Given the description of an element on the screen output the (x, y) to click on. 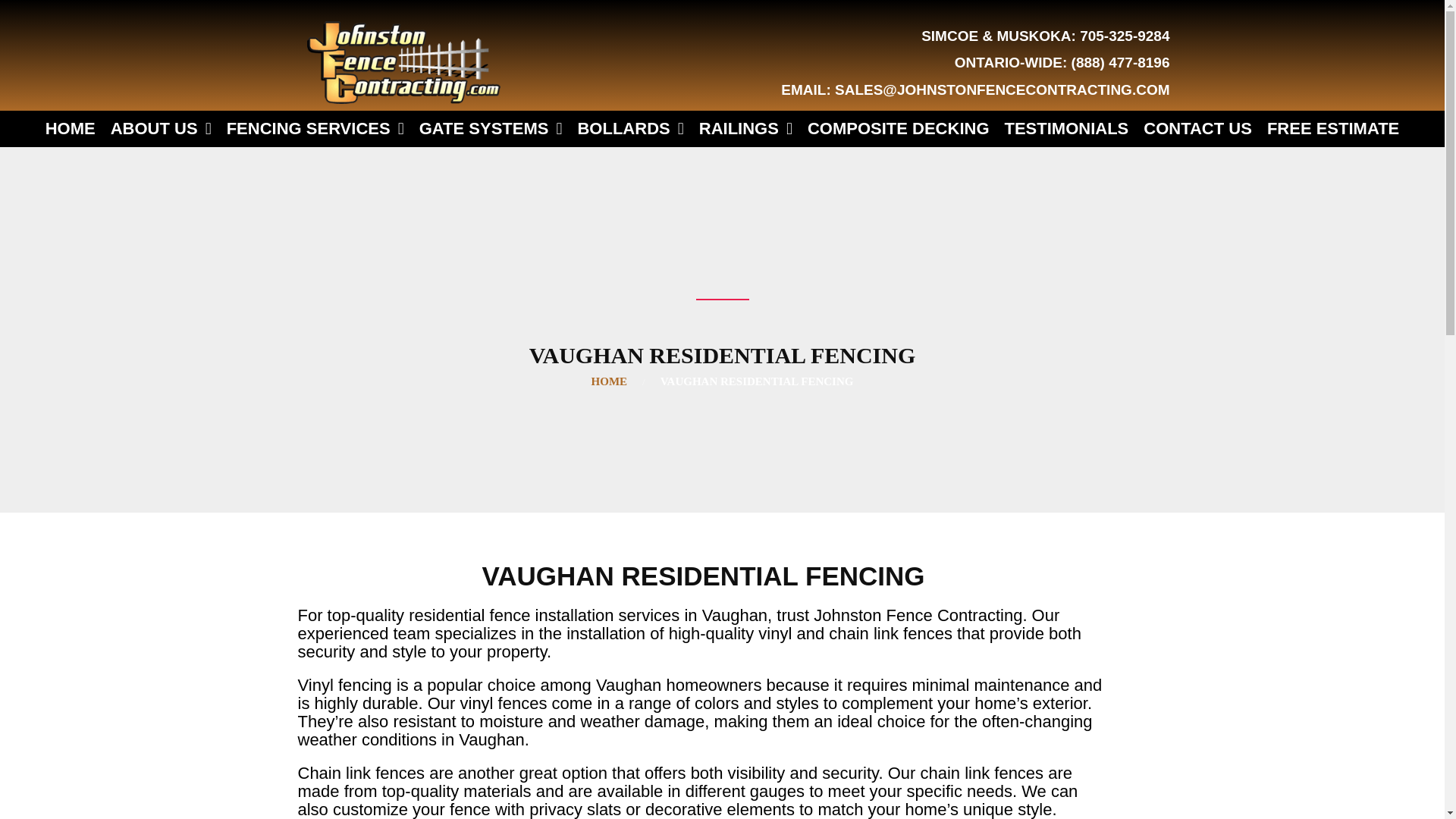
FENCING SERVICES (315, 128)
ABOUT US (161, 128)
GATE SYSTEMS (491, 128)
HOME (70, 128)
